Given the description of an element on the screen output the (x, y) to click on. 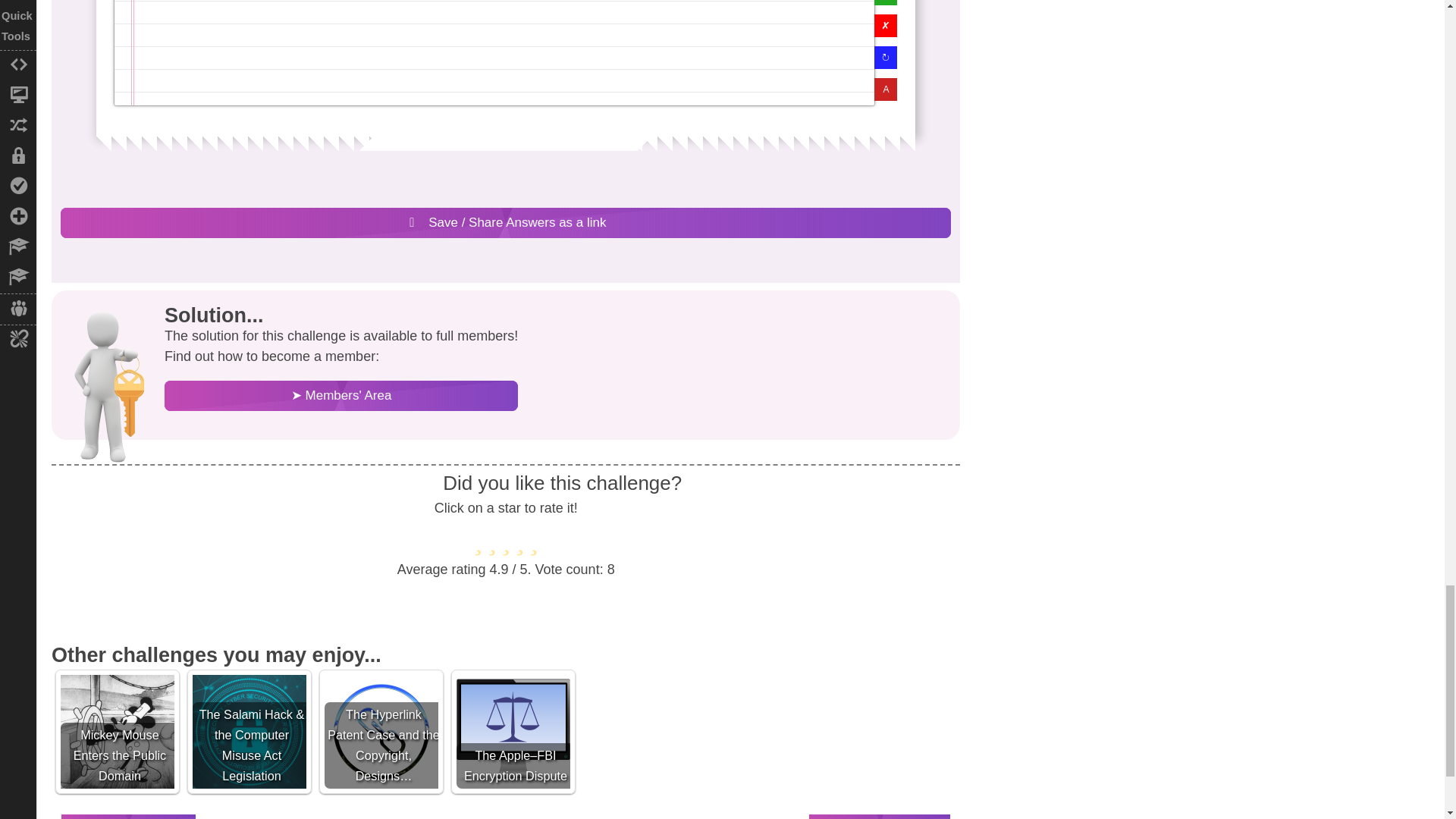
Mickey Mouse Enters the Public Domain (117, 731)
